Given the description of an element on the screen output the (x, y) to click on. 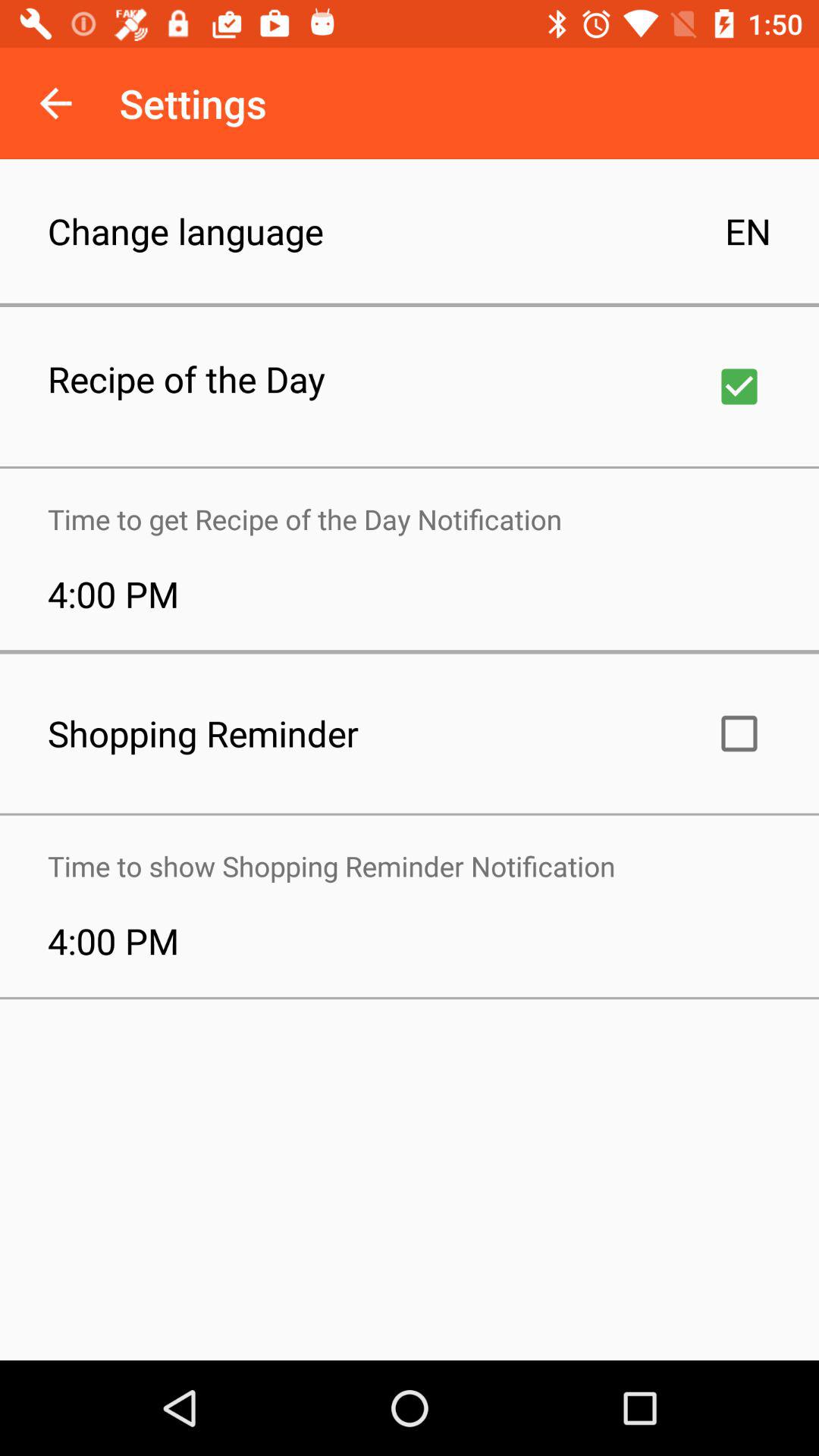
turn on icon next to the settings (55, 103)
